Given the description of an element on the screen output the (x, y) to click on. 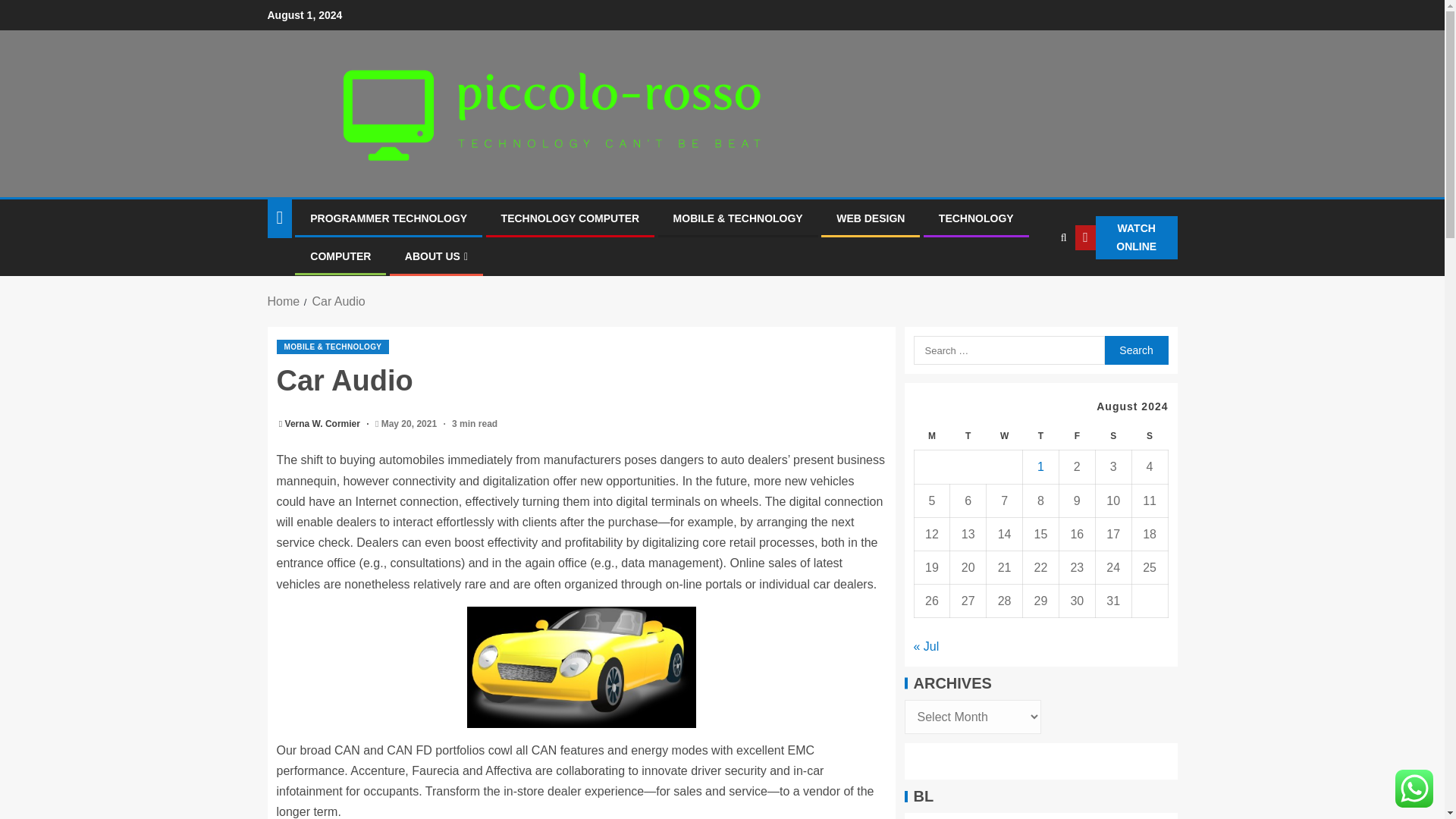
Wednesday (1005, 436)
Car Audio (338, 300)
Home (282, 300)
PROGRAMMER TECHNOLOGY (388, 218)
Thursday (1041, 436)
TECHNOLOGY COMPUTER (570, 218)
ABOUT US (435, 256)
Search (1032, 284)
Saturday (1112, 436)
Search (1135, 349)
Tuesday (968, 436)
Verna W. Cormier (323, 423)
WEB DESIGN (869, 218)
Sunday (1149, 436)
TECHNOLOGY (976, 218)
